Given the description of an element on the screen output the (x, y) to click on. 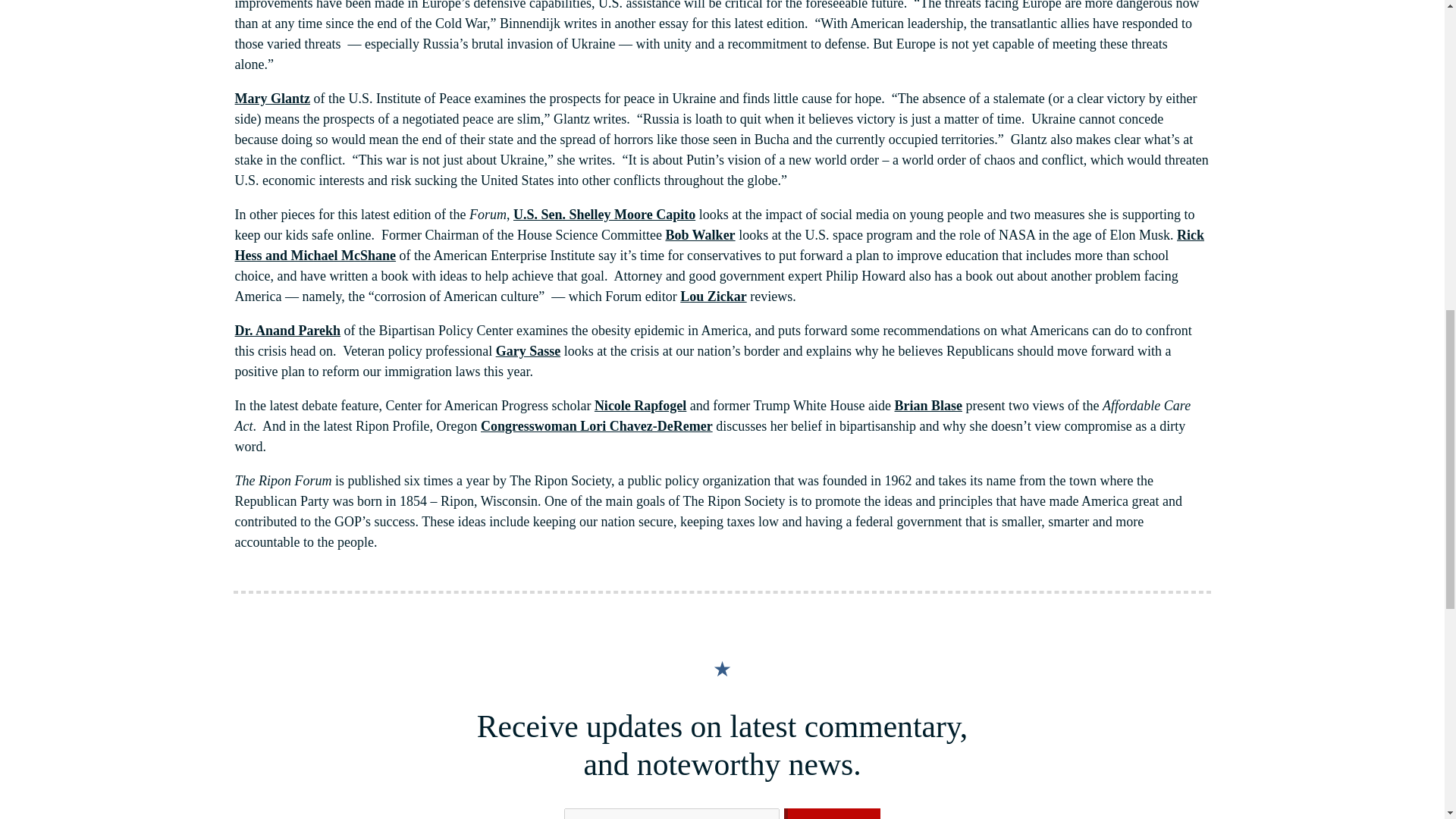
SIGN UP (832, 813)
